Given the description of an element on the screen output the (x, y) to click on. 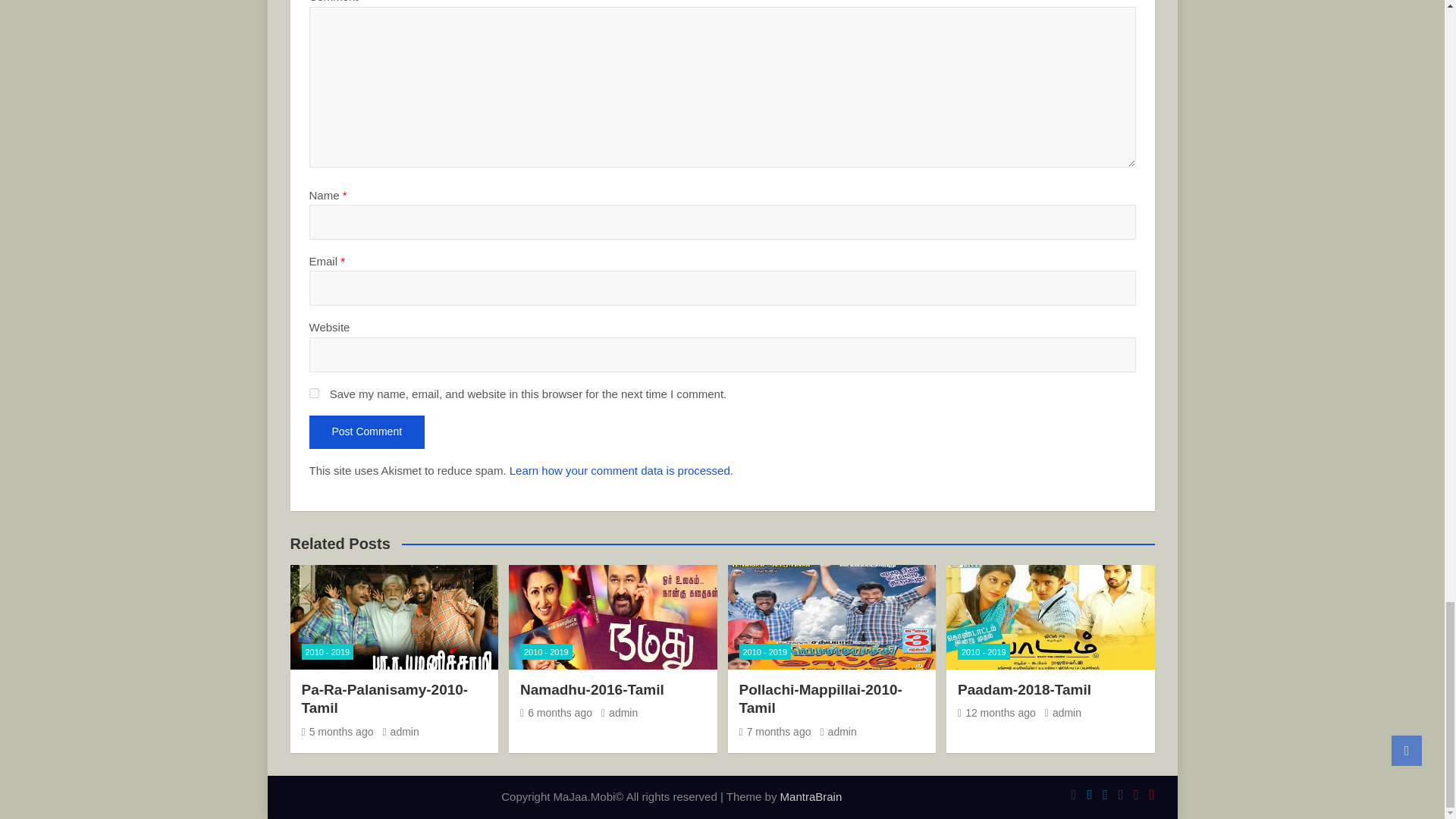
Paadam-2018-Tamil (996, 712)
Post Comment (366, 431)
MantraBrain (811, 796)
Namadhu-2016-Tamil (555, 712)
Pa-Ra-Palanisamy-2010-Tamil (337, 731)
yes (313, 393)
Pollachi-Mappillai-2010-Tamil (774, 731)
